Given the description of an element on the screen output the (x, y) to click on. 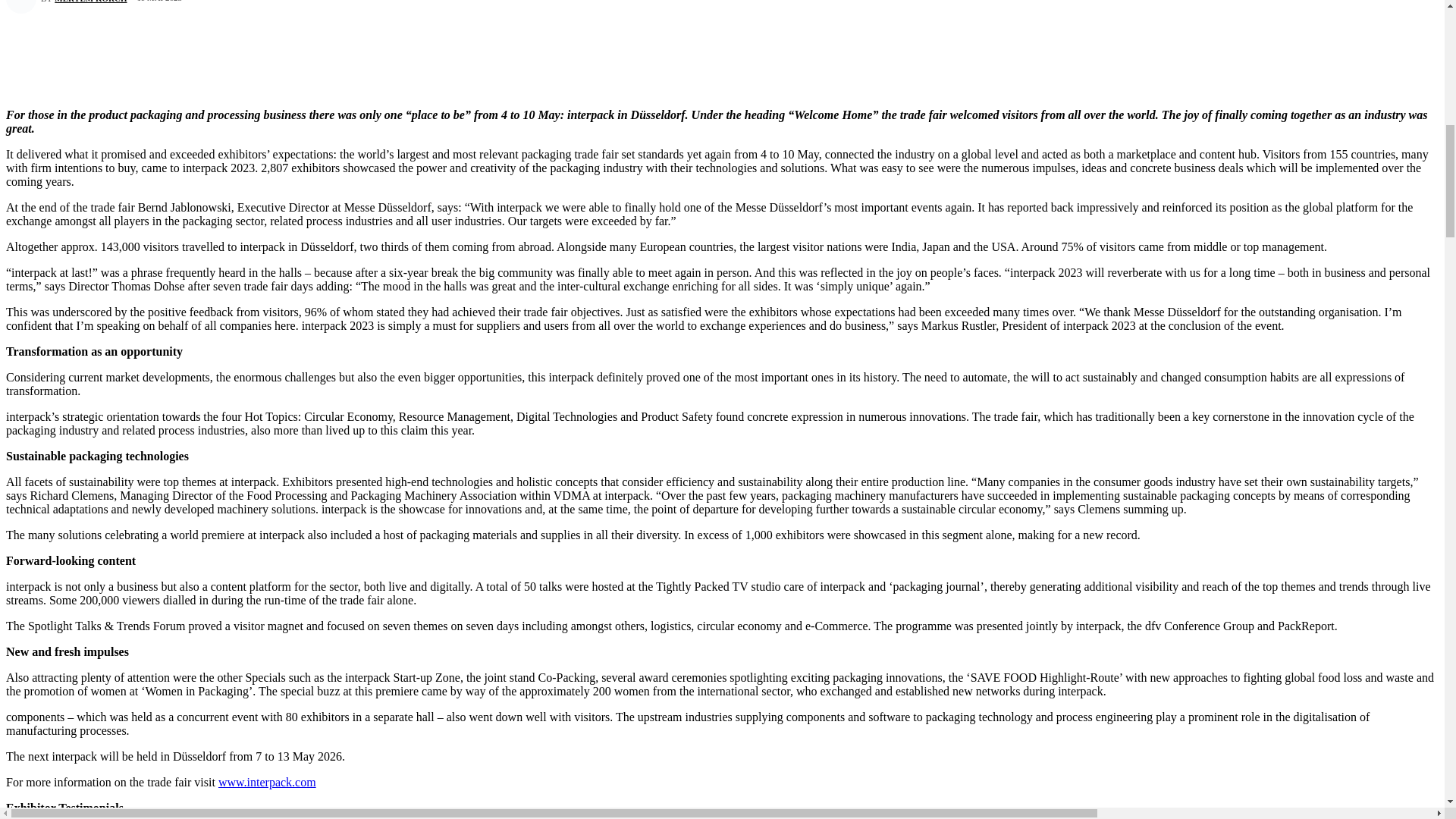
Meryem KORCH (22, 6)
